Given the description of an element on the screen output the (x, y) to click on. 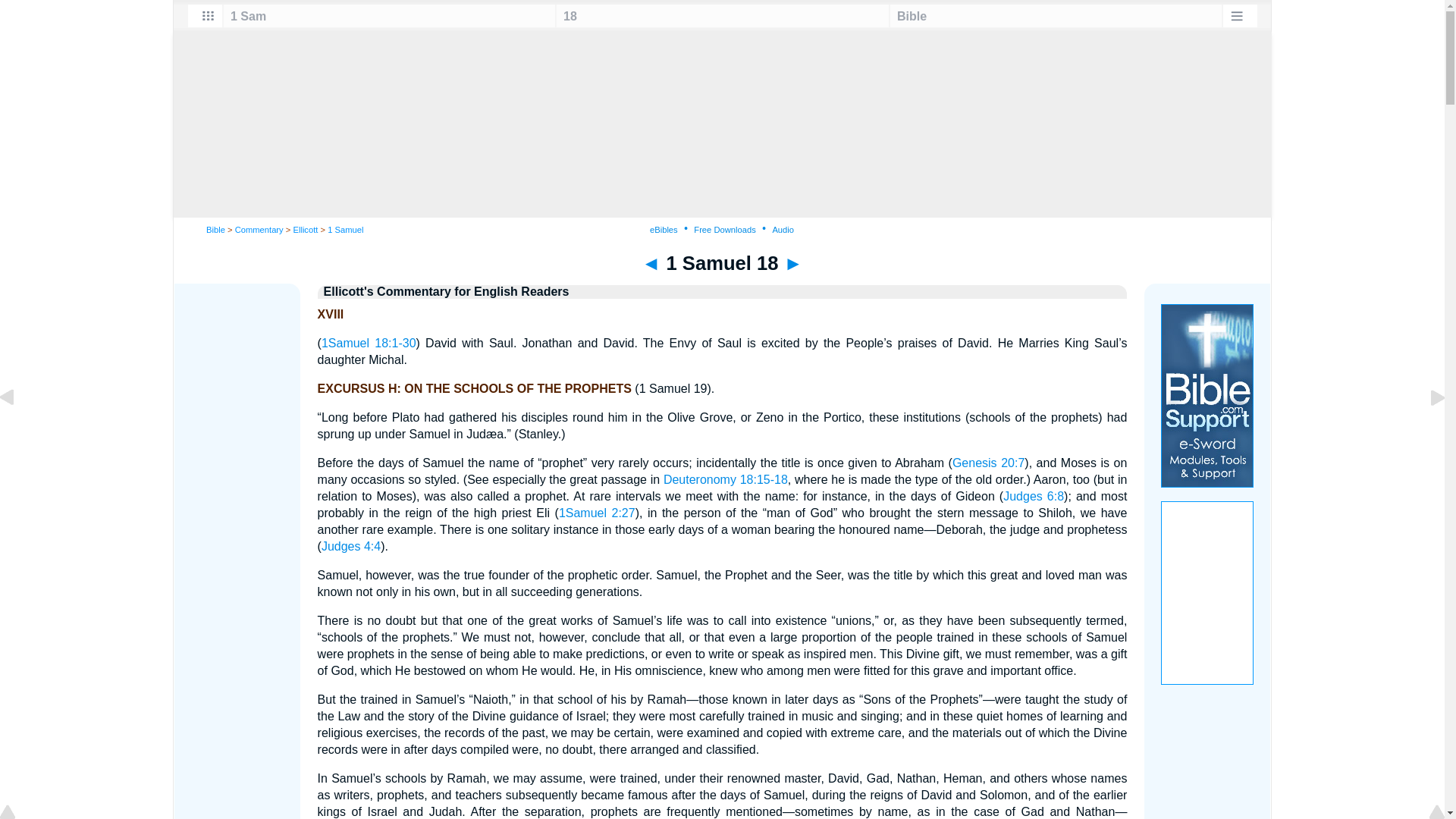
Judges 6:8 (1033, 495)
1Samuel 18:1-30 (368, 342)
1Samuel 2:27 (596, 512)
Genesis 20:7 (988, 462)
Deuteronomy 18:15-18 (725, 479)
1 Samuel 17 (651, 262)
